Given the description of an element on the screen output the (x, y) to click on. 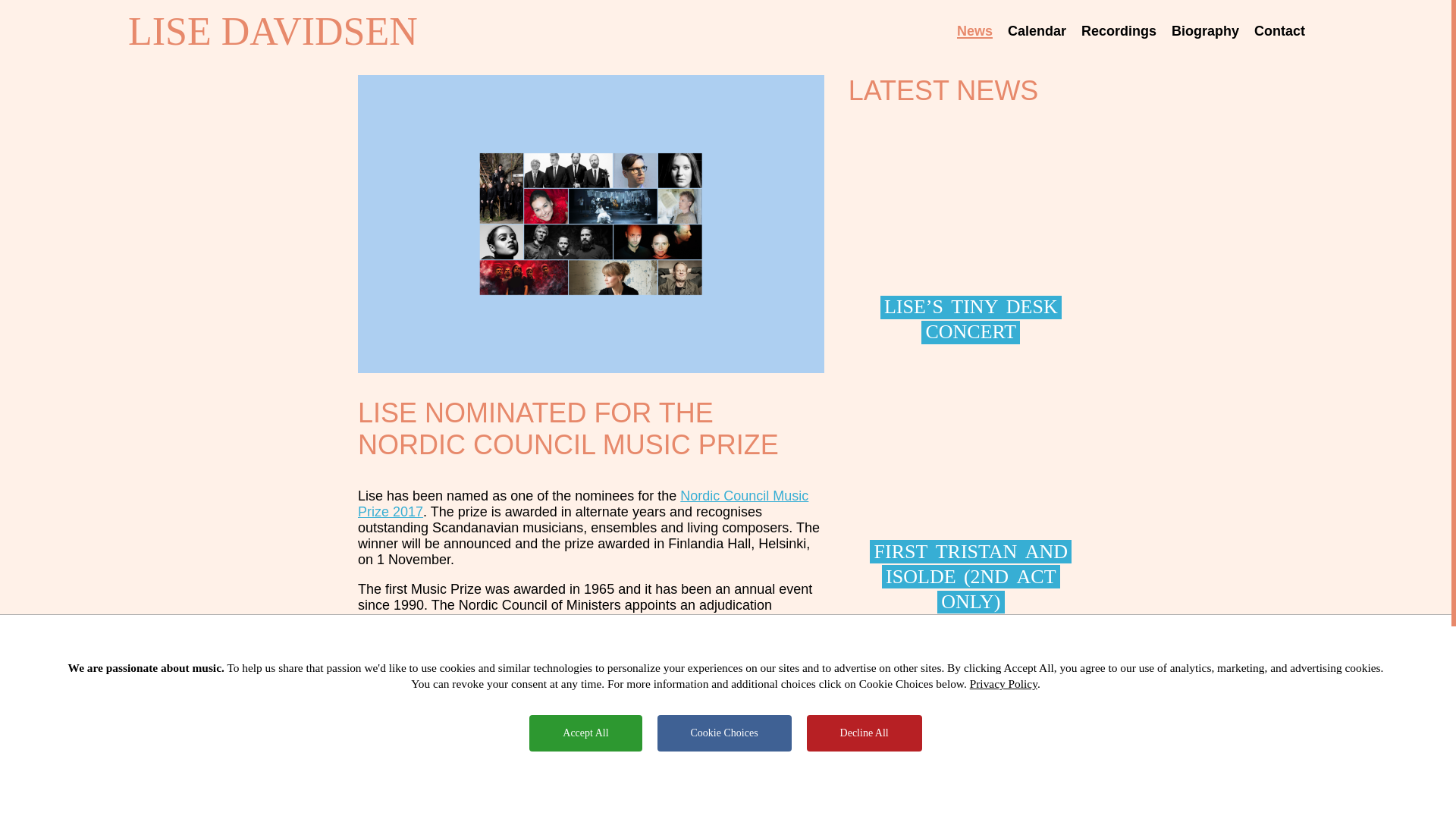
LISE DAVIDSEN (272, 31)
Decline All (863, 732)
Privacy Policy (1002, 683)
News (974, 30)
Nordic Council Music Prize 2017 (583, 503)
SOMMERNACHTKONZERT2024:WITHANDRISNELSONS (970, 735)
Biography (1205, 30)
Recordings (1118, 30)
Calendar (1036, 30)
Contact (1278, 30)
